Given the description of an element on the screen output the (x, y) to click on. 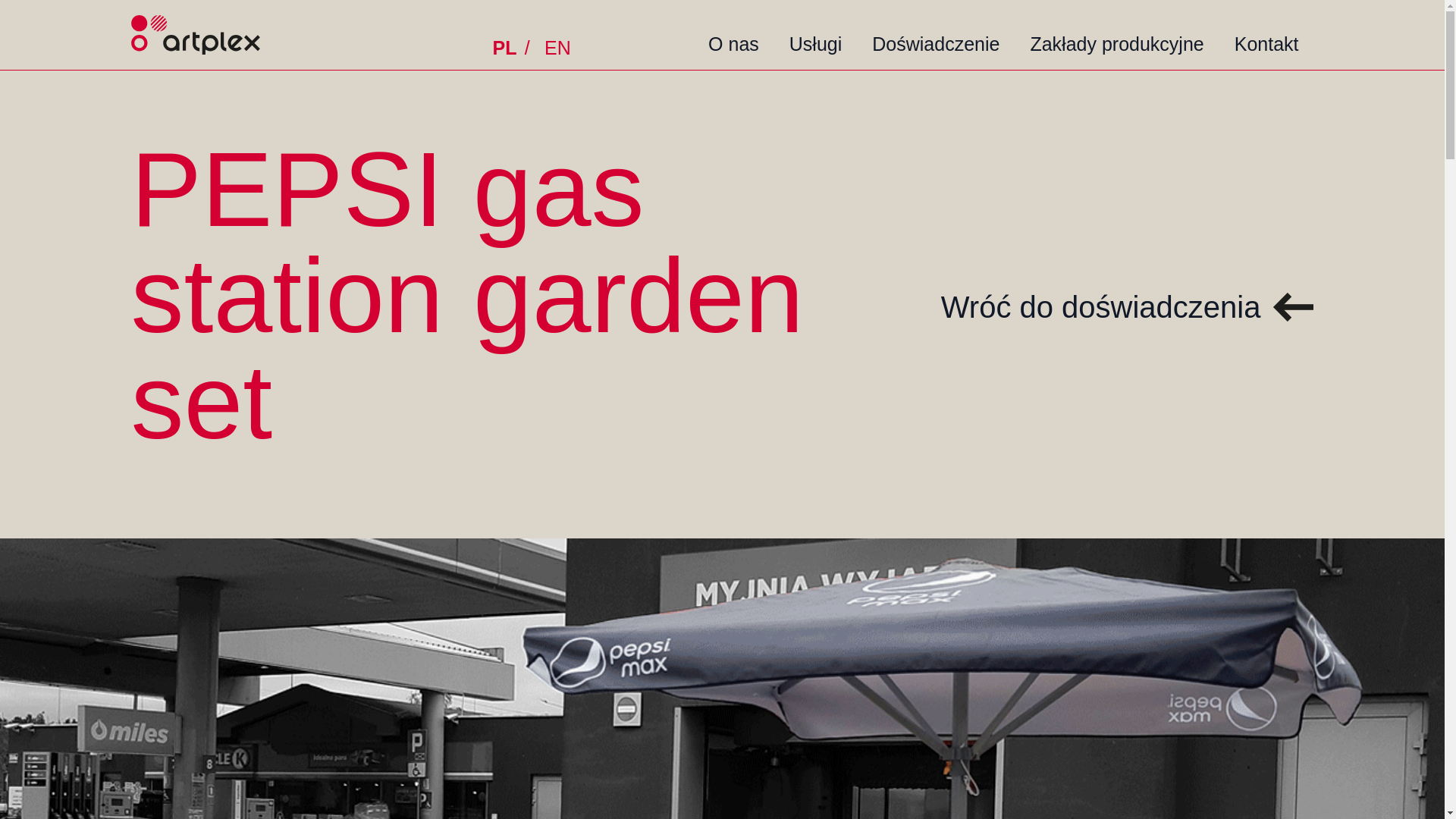
Kontakt (1267, 36)
EN (557, 48)
O nas (733, 36)
English (557, 48)
